Given the description of an element on the screen output the (x, y) to click on. 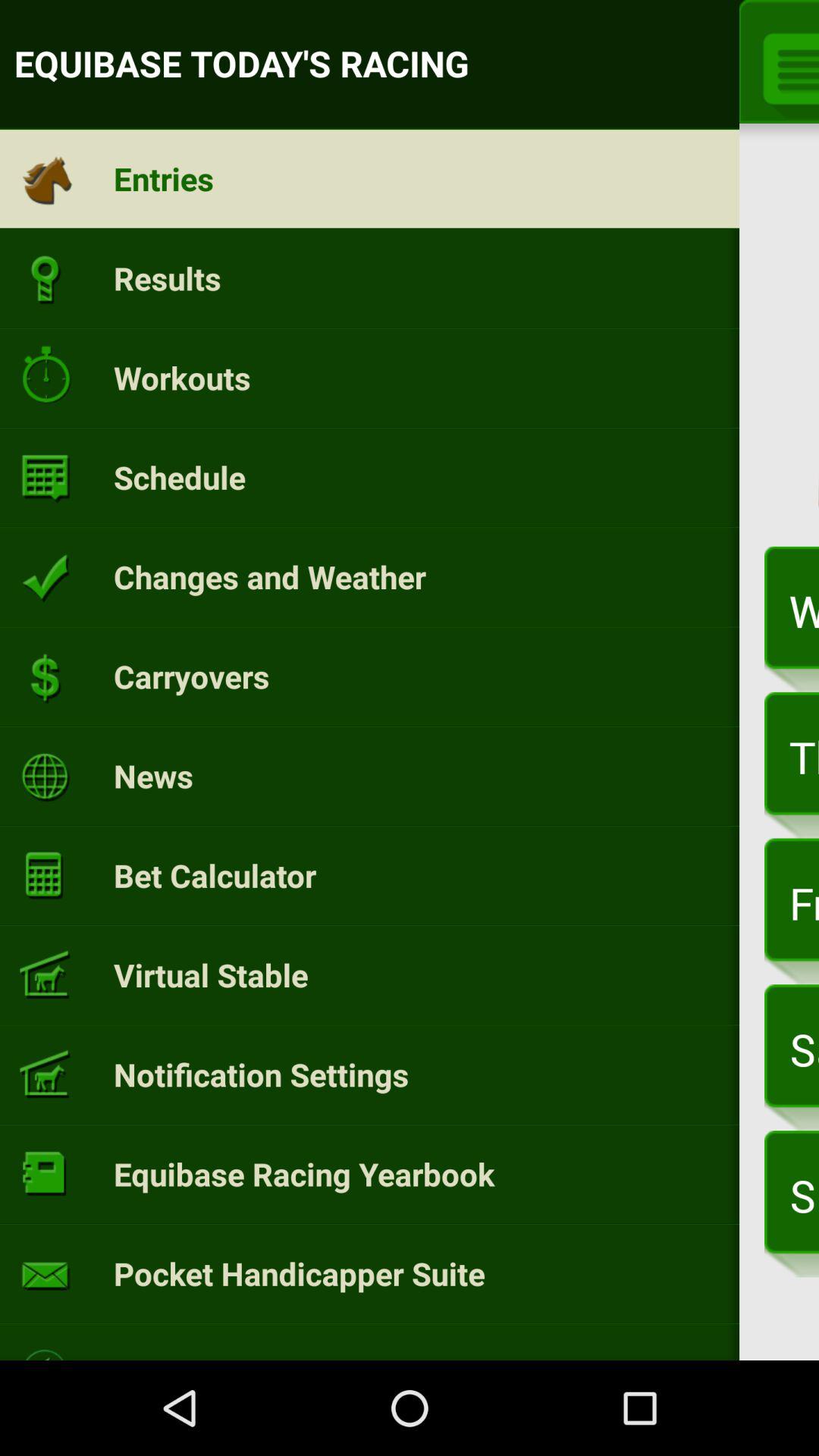
press the changes and weather (269, 576)
